Given the description of an element on the screen output the (x, y) to click on. 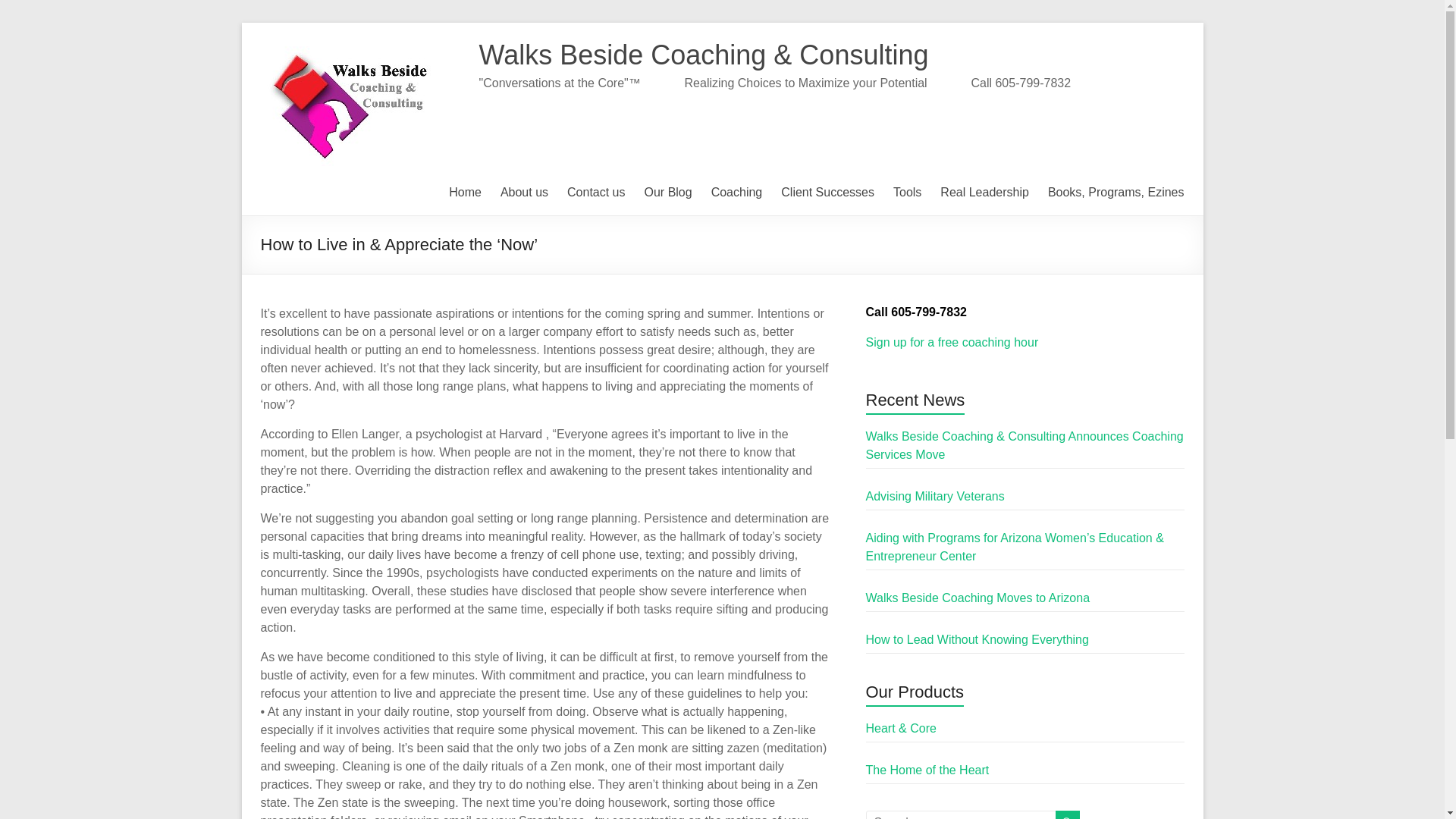
About us (524, 191)
Our Blog (669, 191)
Walks Beside Coaching Moves to Arizona (978, 597)
Contact us (595, 191)
Coaching (736, 191)
How to Lead Without Knowing Everything (977, 639)
Advising Military Veterans (935, 495)
Real Leadership (984, 191)
Tools (907, 191)
Client Successes (827, 191)
Books, Programs, Ezines (1116, 191)
Sign up for a free coaching hour (952, 341)
Home (464, 191)
